Given the description of an element on the screen output the (x, y) to click on. 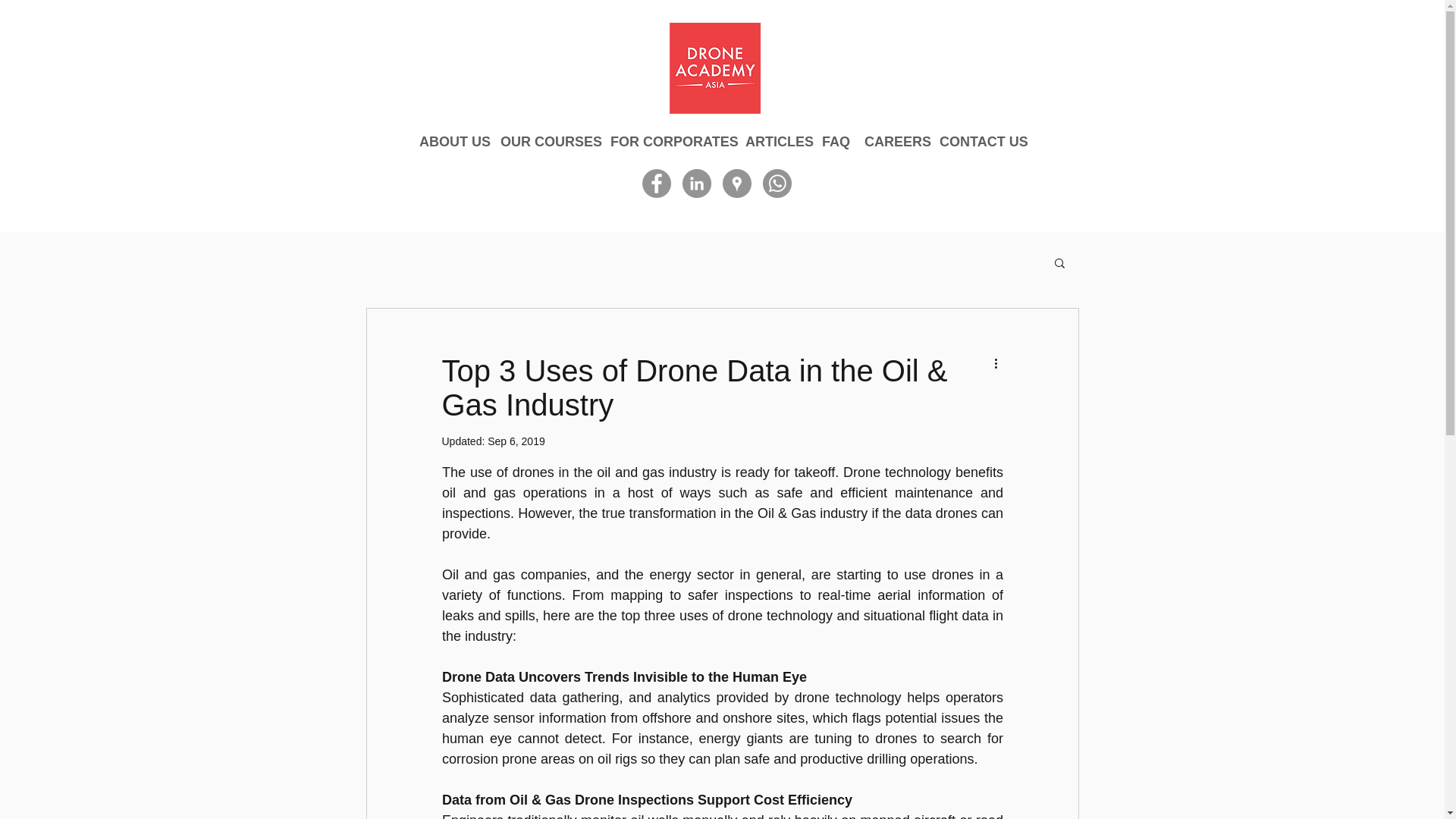
ABOUT US (452, 141)
FAQ (835, 141)
ARTICLES (775, 141)
FOR CORPORATES (670, 141)
Sep 6, 2019 (515, 440)
CAREERS (894, 141)
OUR COURSES (547, 141)
CONTACT US (981, 141)
